Given the description of an element on the screen output the (x, y) to click on. 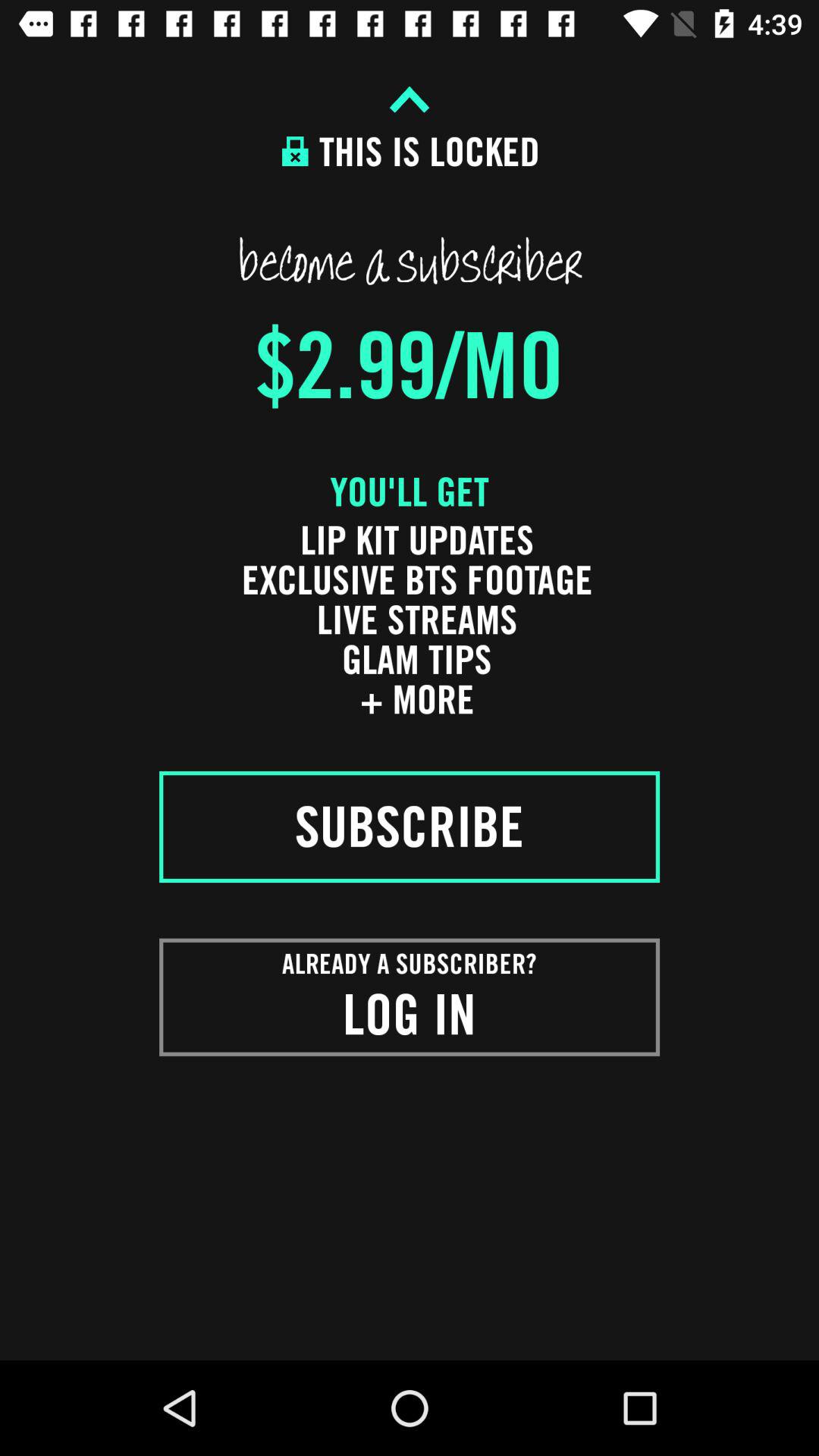
turn on the item below the lip kit updates (409, 826)
